Given the description of an element on the screen output the (x, y) to click on. 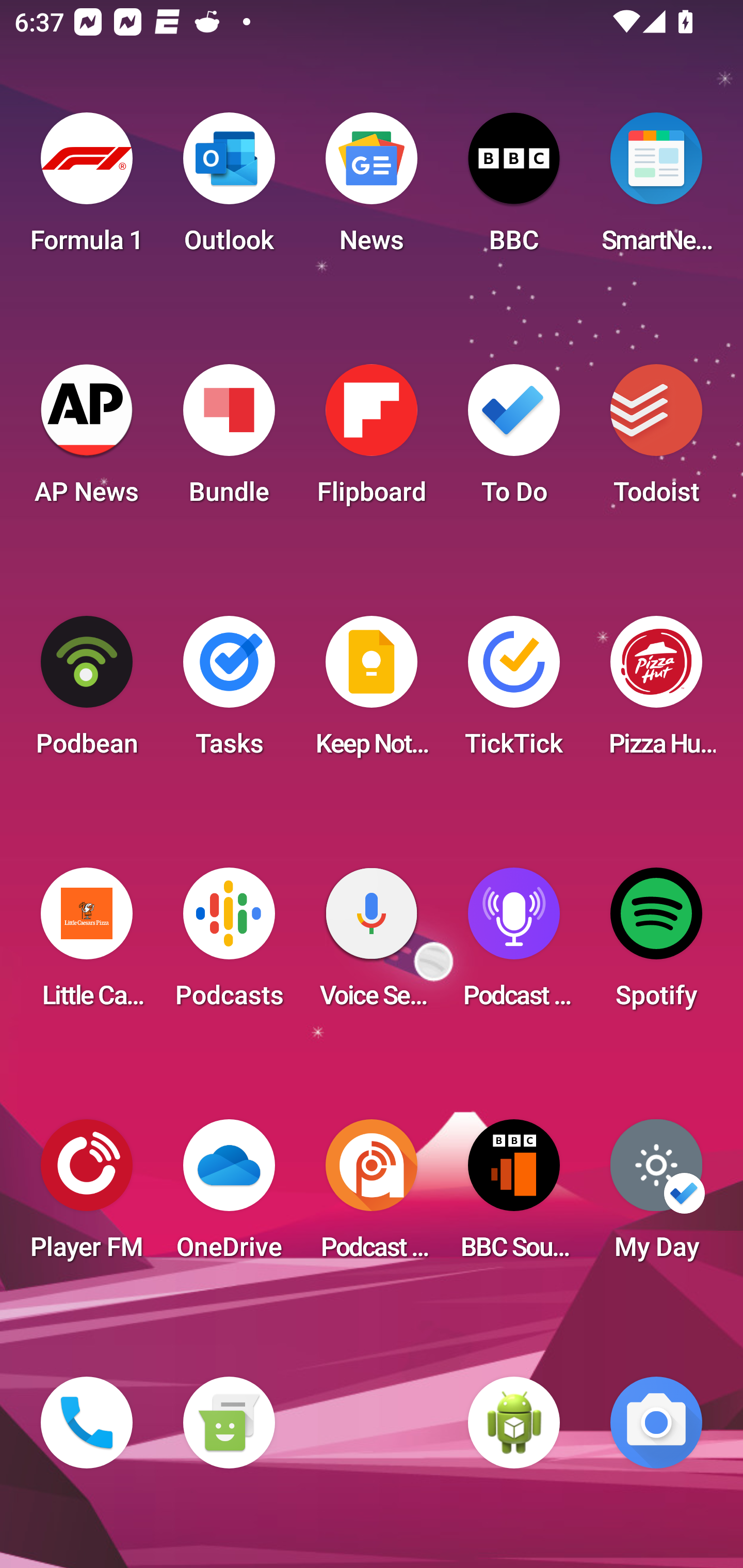
Formula 1 (86, 188)
Outlook (228, 188)
News (371, 188)
BBC (513, 188)
SmartNews (656, 188)
AP News (86, 440)
Bundle (228, 440)
Flipboard (371, 440)
To Do (513, 440)
Todoist (656, 440)
Podbean (86, 692)
Tasks (228, 692)
Keep Notes (371, 692)
TickTick (513, 692)
Pizza Hut HK & Macau (656, 692)
Little Caesars Pizza (86, 943)
Podcasts (228, 943)
Voice Search (371, 943)
Podcast Player (513, 943)
Spotify (656, 943)
Player FM (86, 1195)
OneDrive (228, 1195)
Podcast Addict (371, 1195)
BBC Sounds (513, 1195)
My Day (656, 1195)
Phone (86, 1422)
Messaging (228, 1422)
WebView Browser Tester (513, 1422)
Camera (656, 1422)
